Given the description of an element on the screen output the (x, y) to click on. 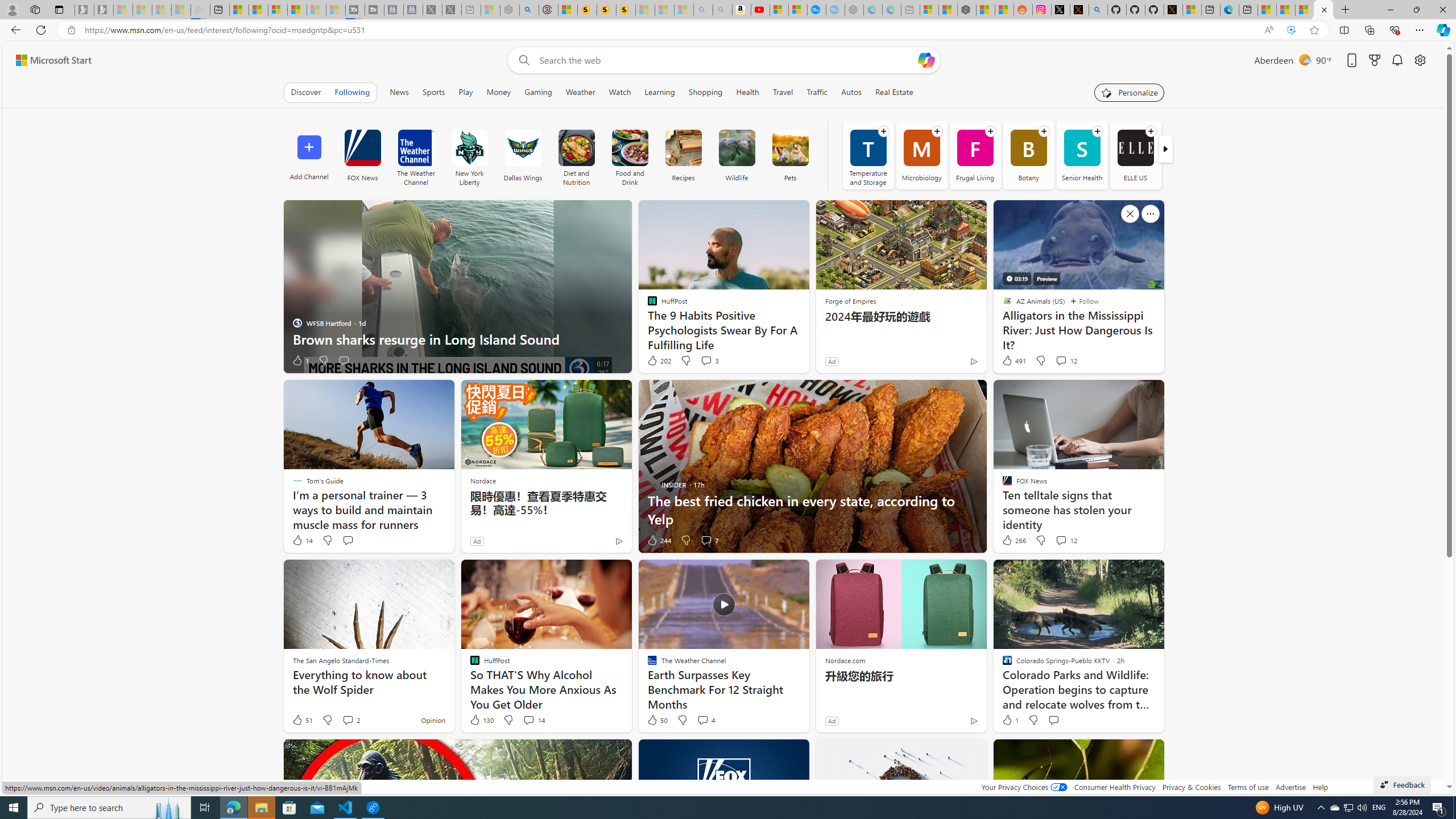
Mostly sunny (1304, 59)
View comments 3 Comment (705, 360)
Temperature and Storage (868, 155)
Nordace - Nordace has arrived Hong Kong - Sleeping (853, 9)
Enhance video (1291, 29)
Enter your search term (726, 59)
View comments 7 Comment (705, 540)
